Given the description of an element on the screen output the (x, y) to click on. 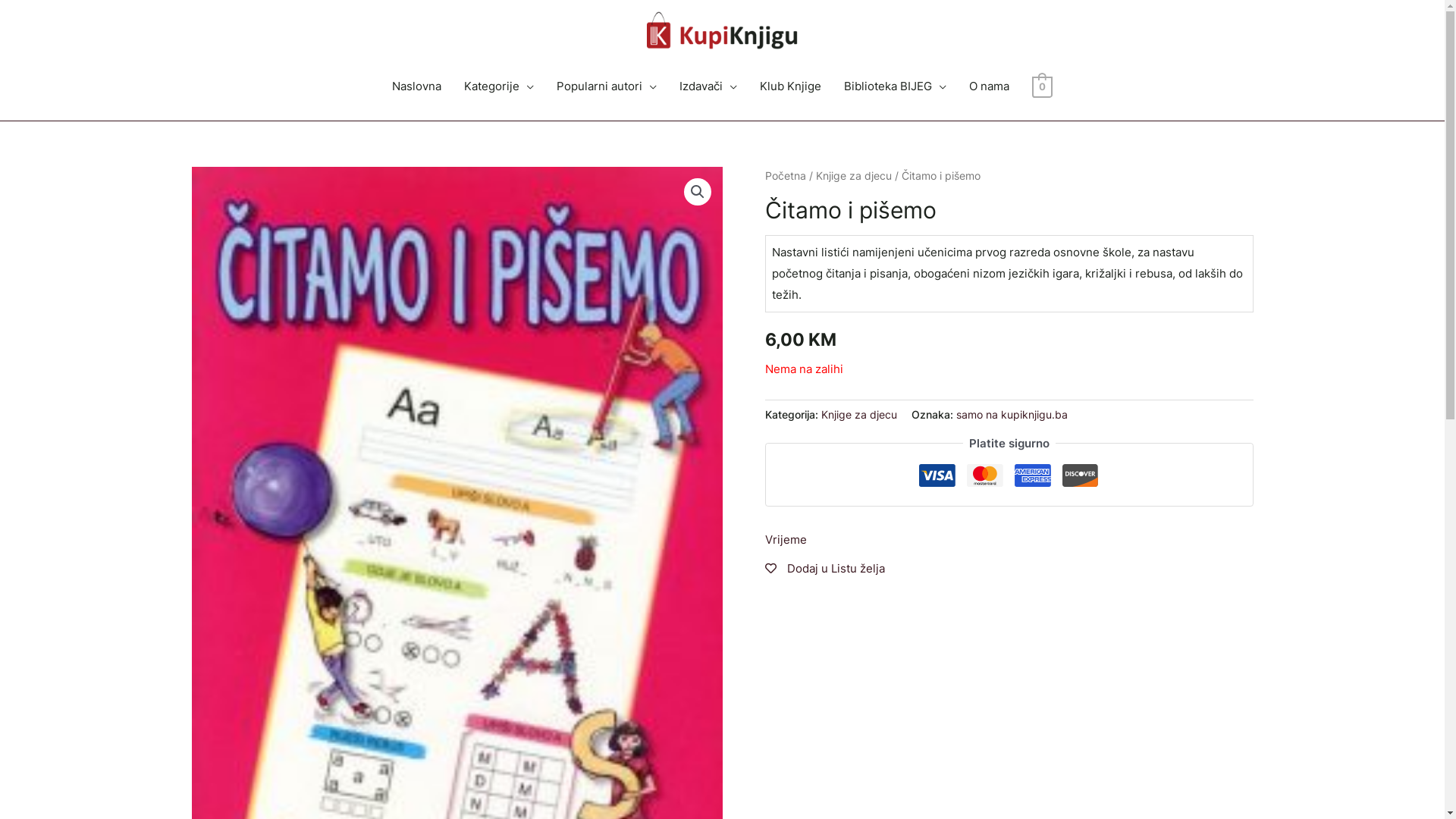
0 Element type: text (1042, 85)
O nama Element type: text (988, 86)
samo na kupiknjigu.ba Element type: text (1010, 414)
Vrijeme Element type: text (785, 539)
Kategorije Element type: text (498, 86)
Knjige za djecu Element type: text (858, 414)
Naslovna Element type: text (416, 86)
Biblioteka BIJEG Element type: text (894, 86)
Knjige za djecu Element type: text (853, 175)
Popularni autori Element type: text (606, 86)
Klub Knjige Element type: text (790, 86)
